Given the description of an element on the screen output the (x, y) to click on. 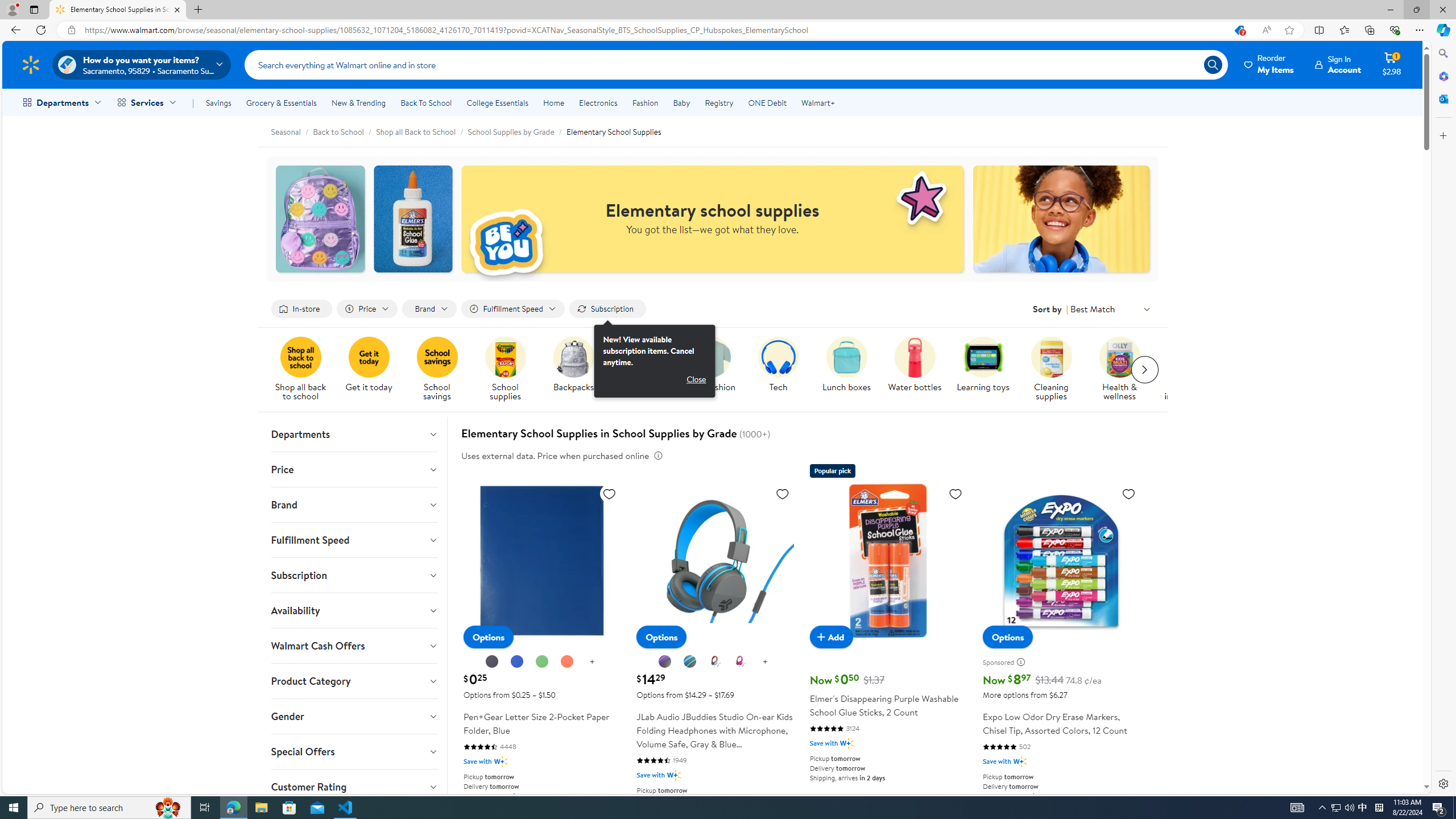
New & Trending (358, 102)
A blue headset is on display. Tech (778, 364)
Learning toys (987, 369)
ONE Debit (767, 102)
Walmart Plus (1019, 761)
Elementary School Supplies (613, 131)
Multicolor (715, 662)
Reorder My Items (1269, 64)
Product Category (354, 680)
Sign InAccount (1338, 64)
